Given the description of an element on the screen output the (x, y) to click on. 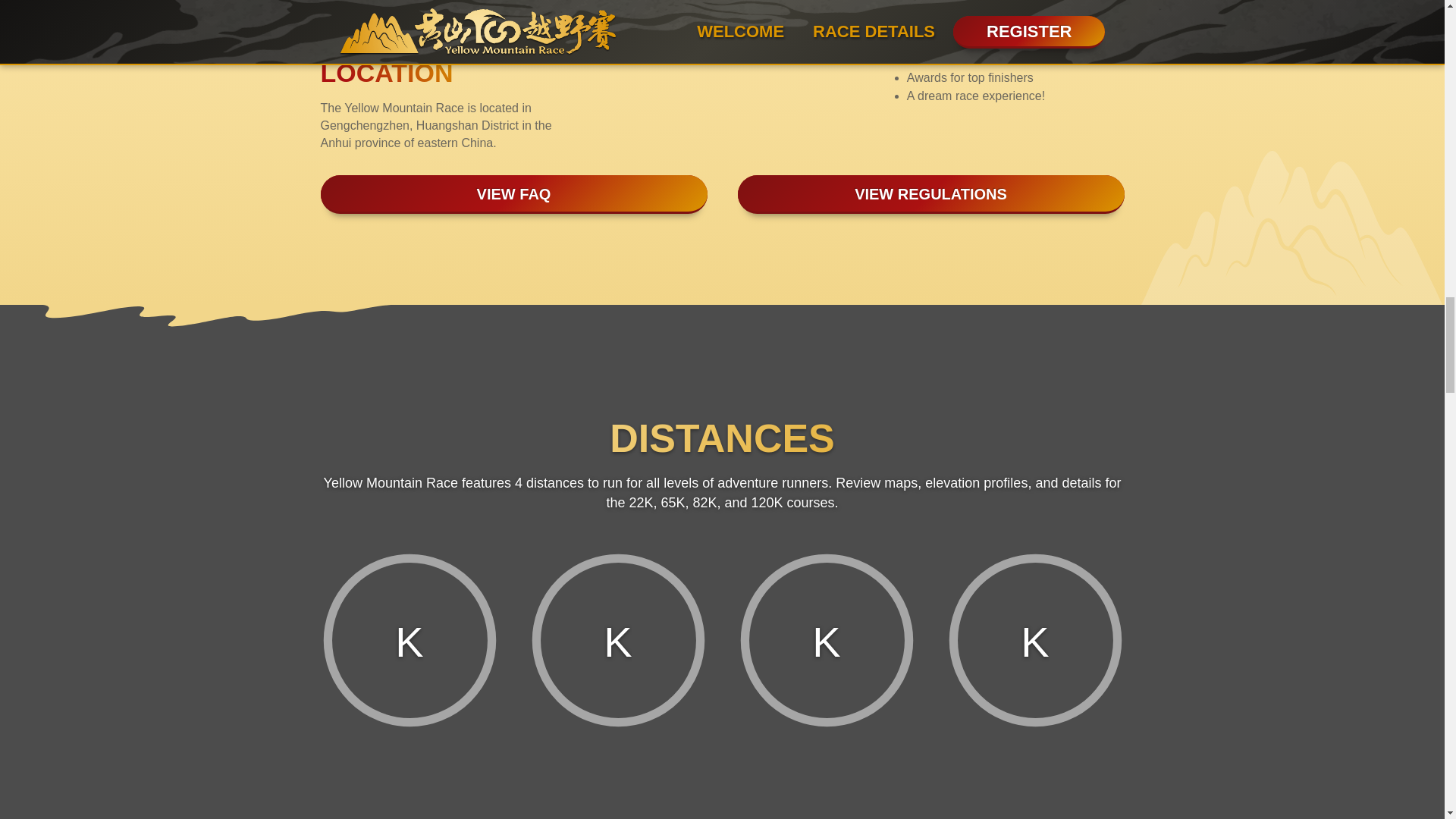
120K Course Map (1035, 791)
VIEW REGULATIONS (930, 194)
22K Course Map (408, 791)
65K Course Map (618, 791)
82K Course Map (825, 791)
VIEW FAQ (513, 194)
Yellow Mountain (721, 29)
